Given the description of an element on the screen output the (x, y) to click on. 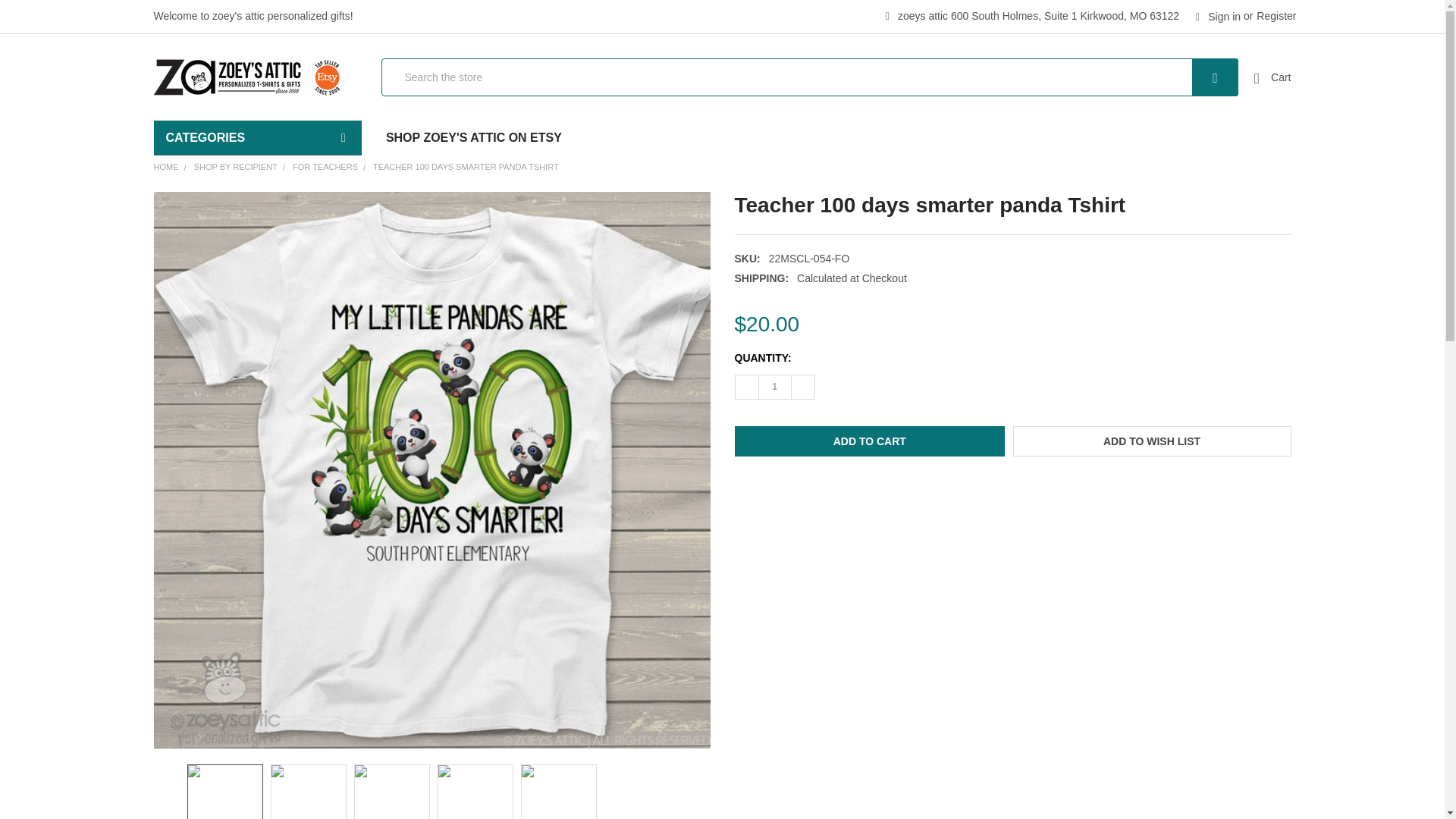
Cart (1272, 76)
Teacher 100 days smarter panda Tshirt (308, 791)
Search (1193, 77)
Add to Cart (868, 440)
Shop by Gift Type (257, 238)
Teacher 100 days smarter panda Tshirt (392, 791)
Back to School (257, 237)
1 (774, 386)
Teacher 100 days smarter panda Tshirt (224, 791)
